Given the description of an element on the screen output the (x, y) to click on. 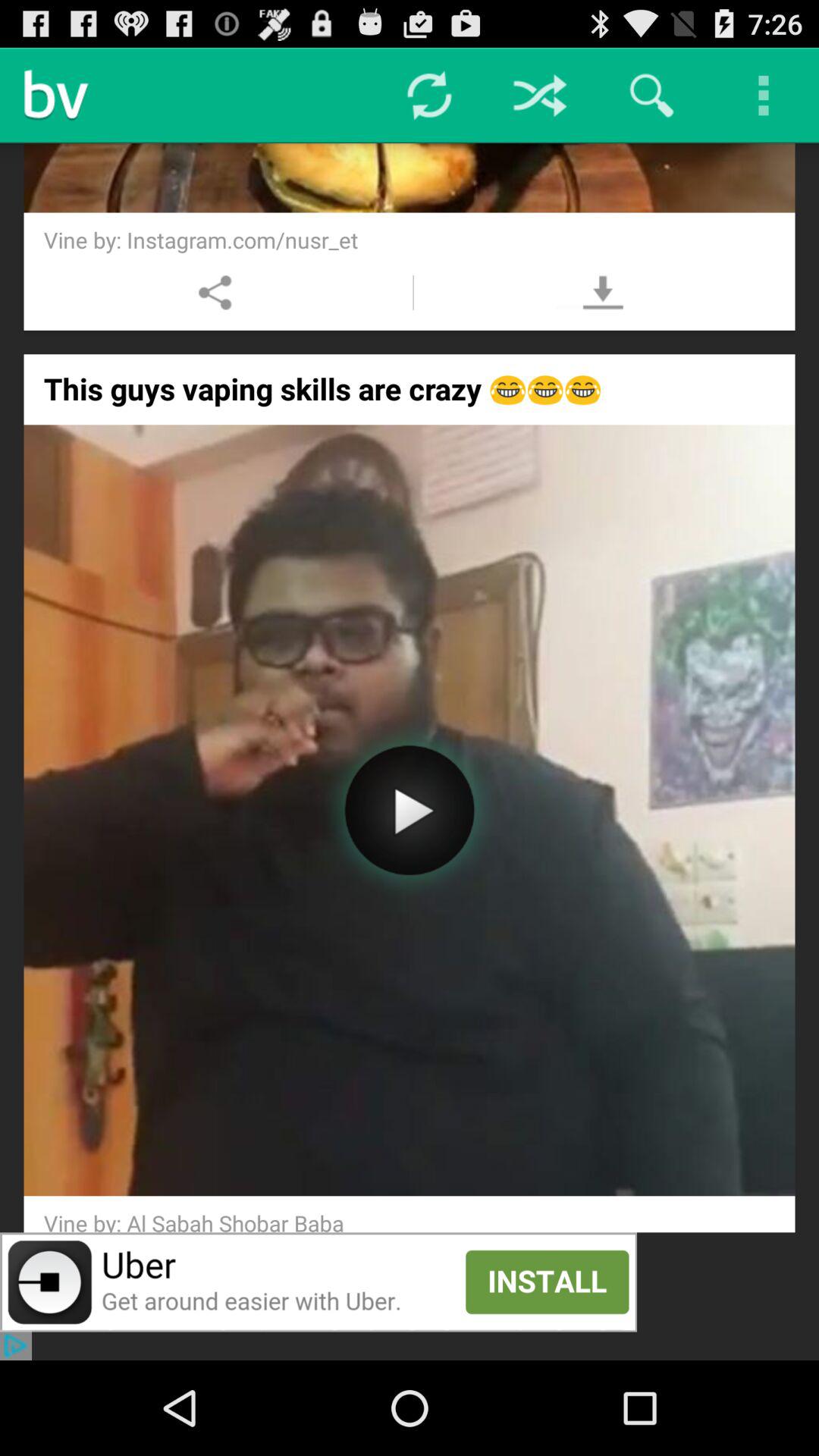
share icon (215, 292)
